Given the description of an element on the screen output the (x, y) to click on. 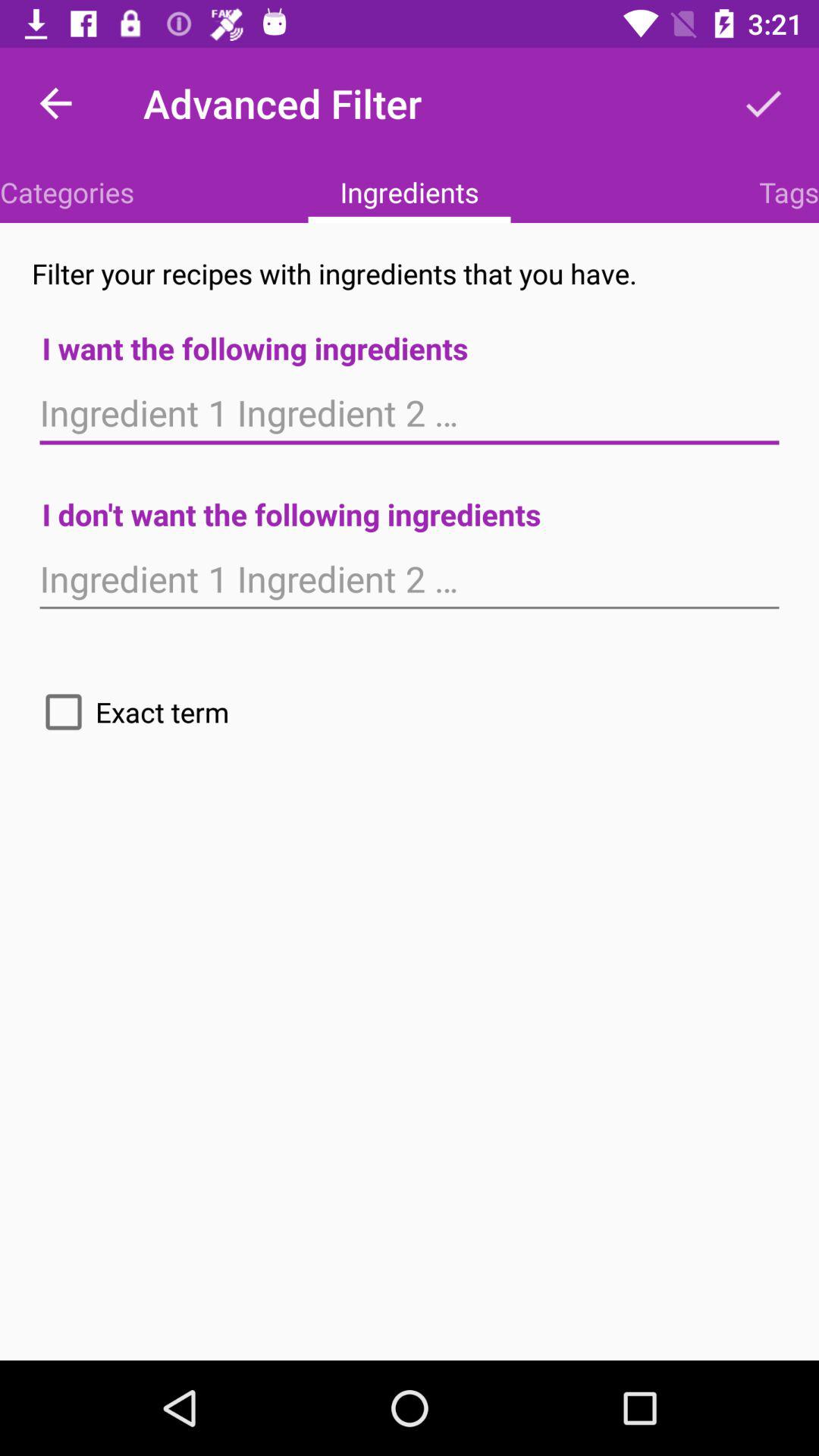
launch icon next to the advanced filter icon (55, 103)
